Given the description of an element on the screen output the (x, y) to click on. 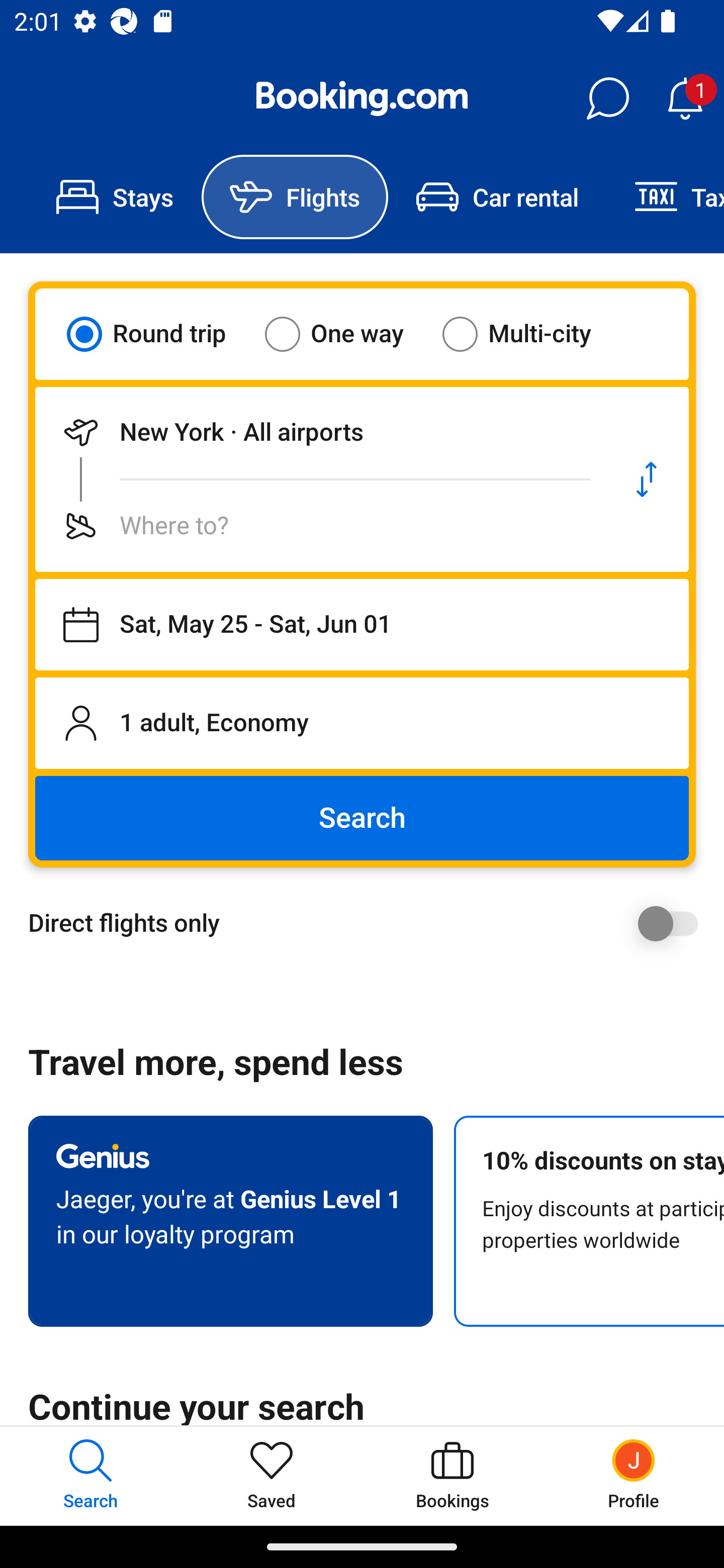
Messages (607, 98)
Notifications (685, 98)
Stays (114, 197)
Flights (294, 197)
Car rental (497, 197)
Taxi (665, 197)
One way (346, 333)
Multi-city (528, 333)
Departing from New York · All airports (319, 432)
Swap departure location and destination (646, 479)
Flying to  (319, 525)
Departing on Sat, May 25, returning on Sat, Jun 01 (361, 624)
1 adult, Economy (361, 722)
Search (361, 818)
Direct flights only (369, 923)
Saved (271, 1475)
Bookings (452, 1475)
Profile (633, 1475)
